Given the description of an element on the screen output the (x, y) to click on. 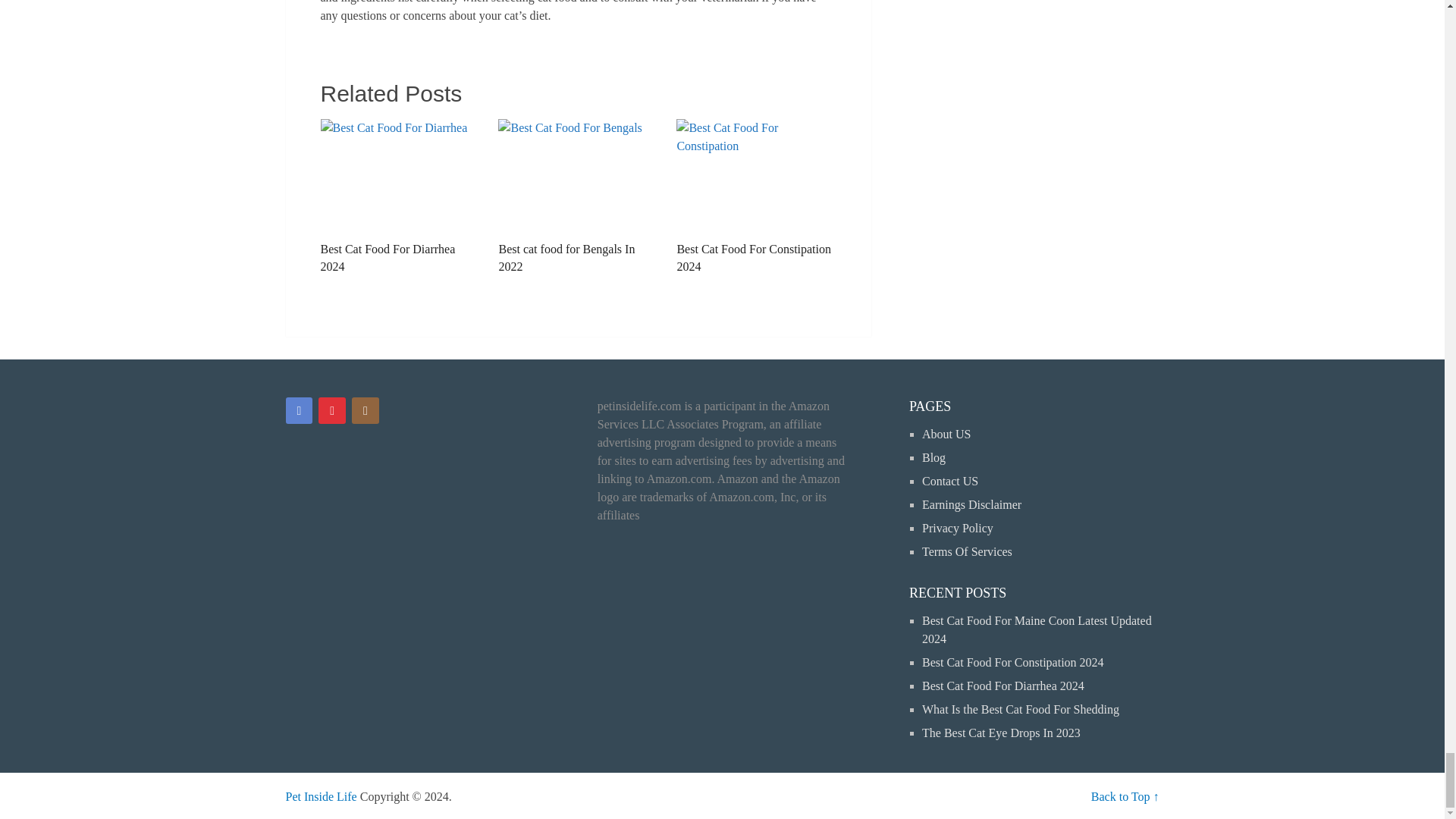
Best Cat Food For Diarrhea 2024 (399, 196)
Instagram (365, 411)
Best cat food for Bengals In 2022 (577, 196)
Contact US (949, 481)
best cat food for constipation (756, 175)
Best Cat Food For Constipation 2024 (756, 196)
Facebook (299, 411)
Best Cat Food For Constipation 2024 (756, 196)
Pinterest (332, 411)
Blog (932, 457)
